Given the description of an element on the screen output the (x, y) to click on. 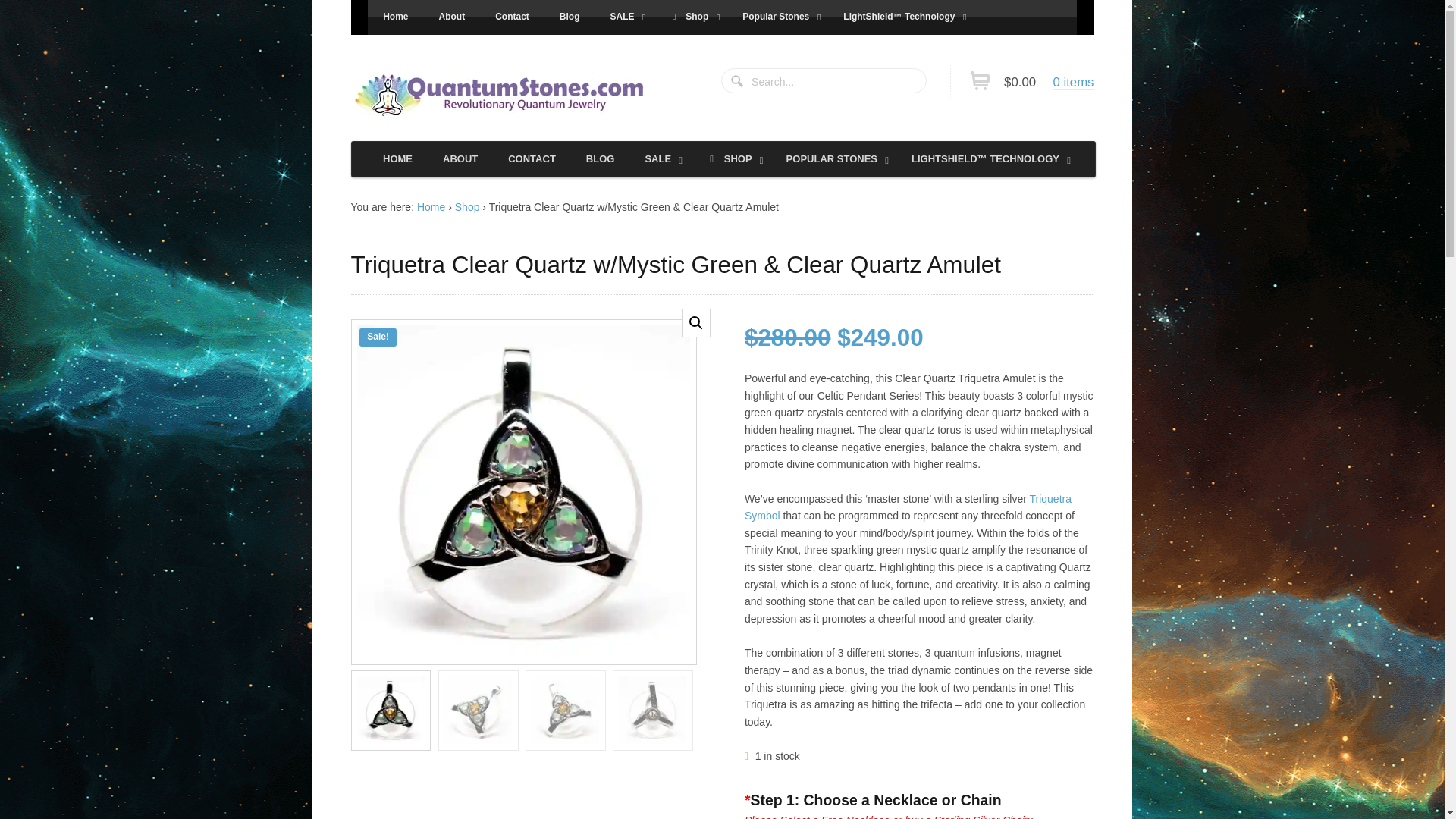
Search (737, 82)
SALE (623, 17)
About (451, 17)
Shop (690, 17)
Popular Stones (777, 17)
Home (395, 17)
Search (737, 82)
Powerful Quantum Jewelry (501, 94)
View your shopping cart (1042, 82)
Blog (569, 17)
QuantumStones.com (430, 206)
Triquetra Clear Quartz (869, 492)
Triquetra Clear Quartz (522, 492)
Contact (512, 17)
Shop (467, 206)
